Given the description of an element on the screen output the (x, y) to click on. 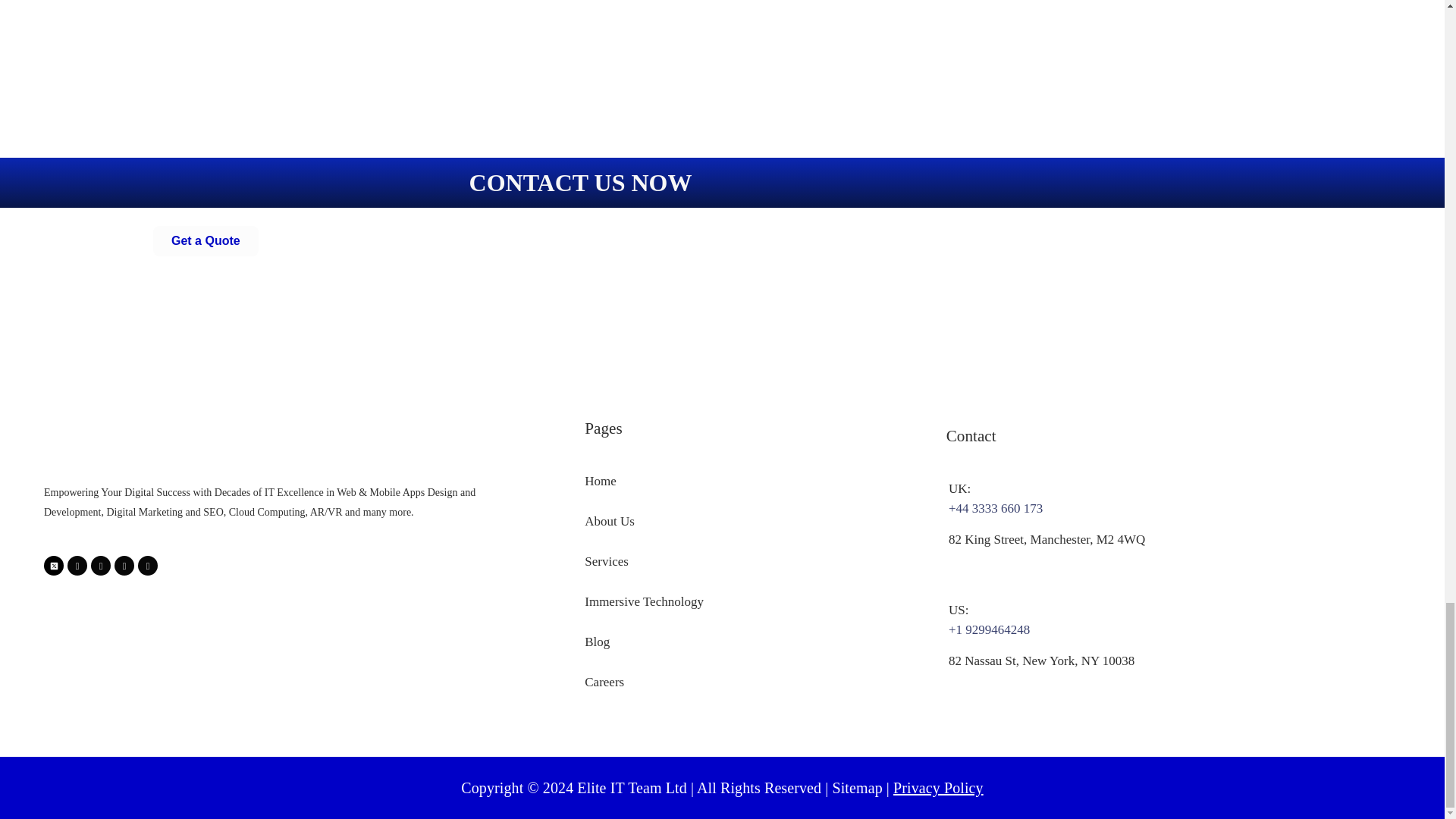
Careers (748, 682)
Get a Quote (205, 241)
About Us (748, 521)
Instagram (147, 565)
Blog (748, 641)
Immersive Technology (748, 601)
Facebook (76, 565)
Home (748, 481)
Youtube (124, 565)
Services (748, 561)
